Given the description of an element on the screen output the (x, y) to click on. 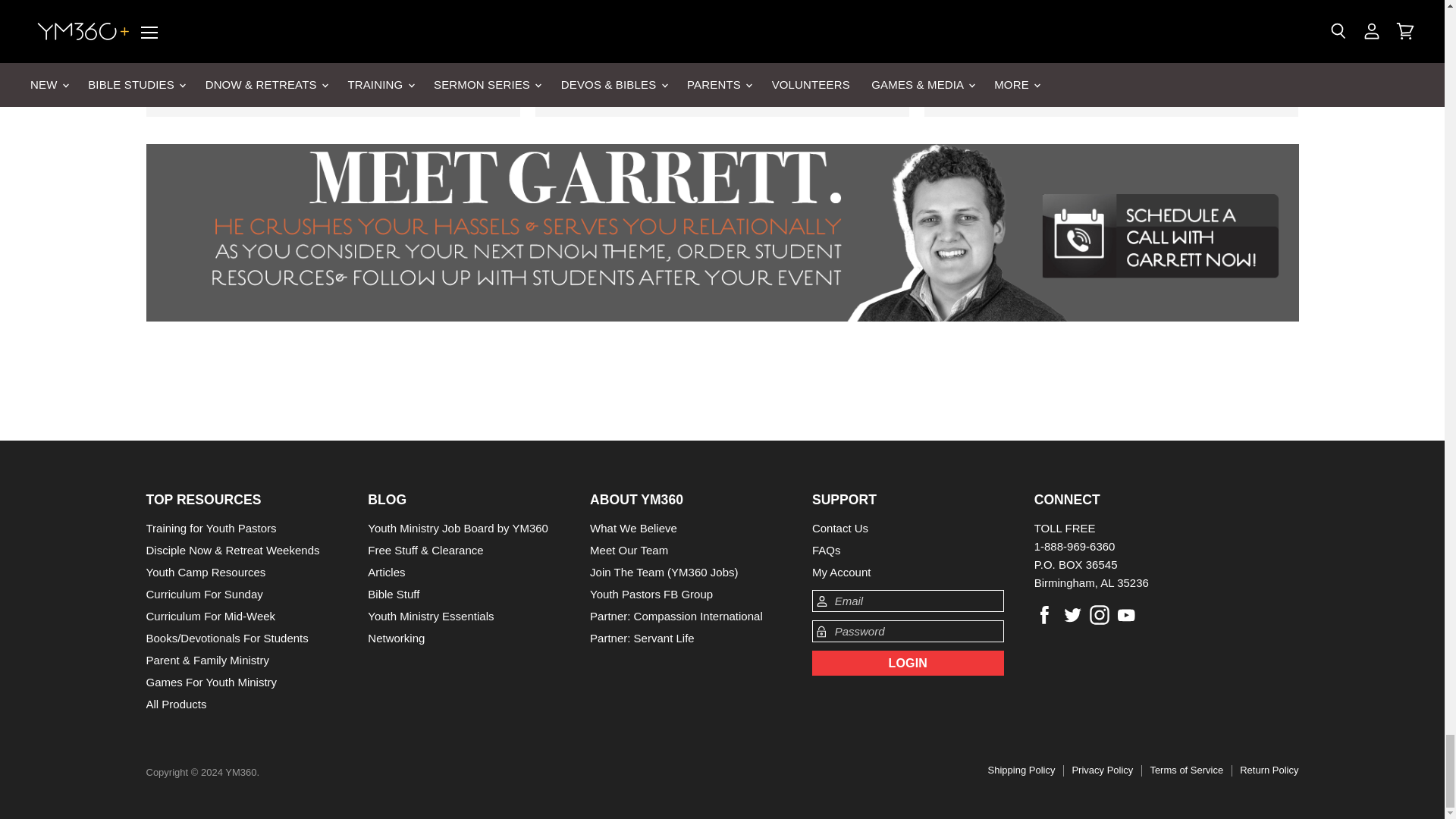
Twitter (1072, 614)
Facebook (1044, 614)
Instagram (1099, 614)
Login (908, 662)
Youtube (1126, 614)
